Given the description of an element on the screen output the (x, y) to click on. 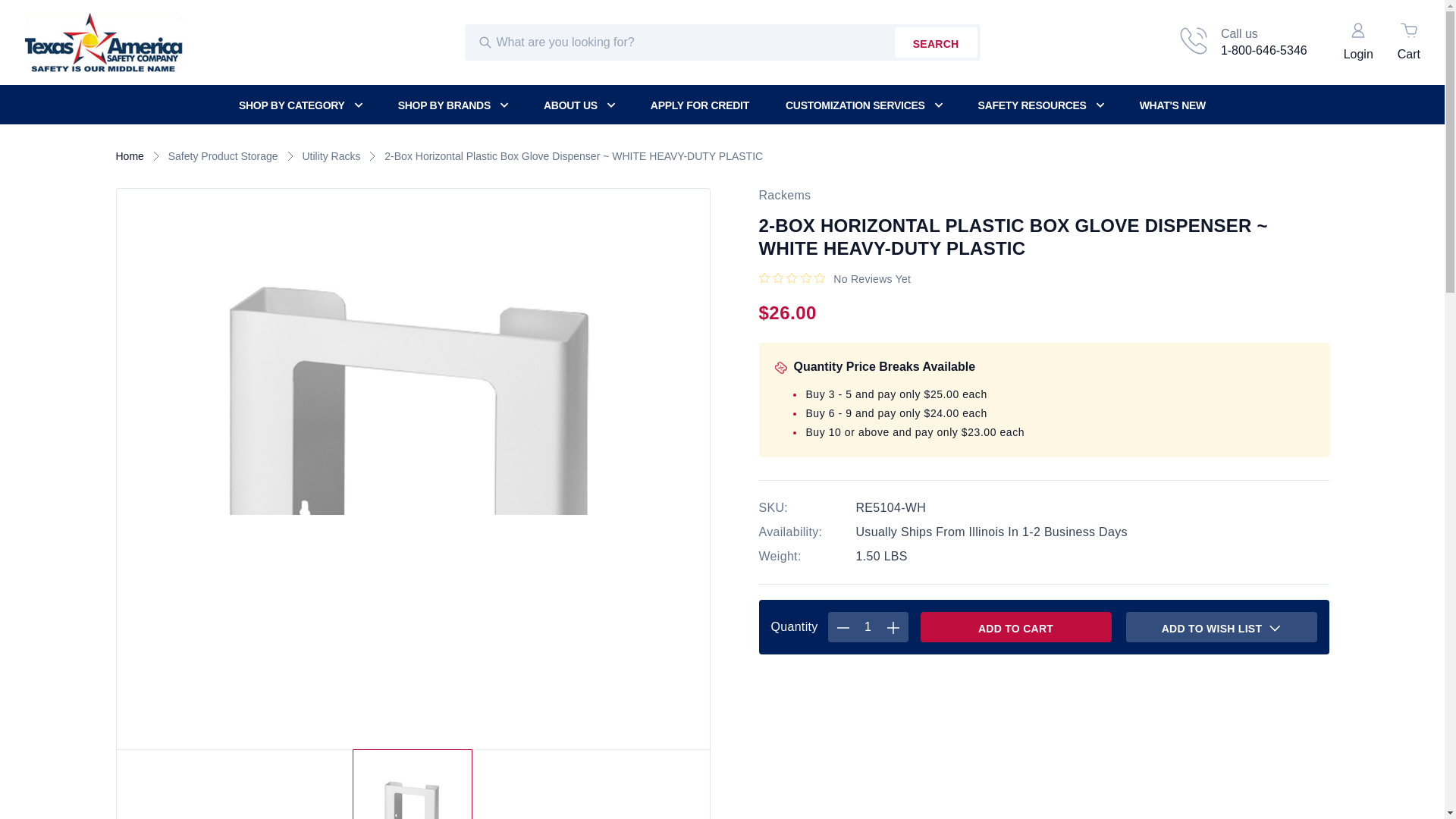
SHOP BY CATEGORY (309, 104)
Add to Cart (1016, 626)
Texas America Safety Company (103, 42)
SEARCH (935, 42)
